Given the description of an element on the screen output the (x, y) to click on. 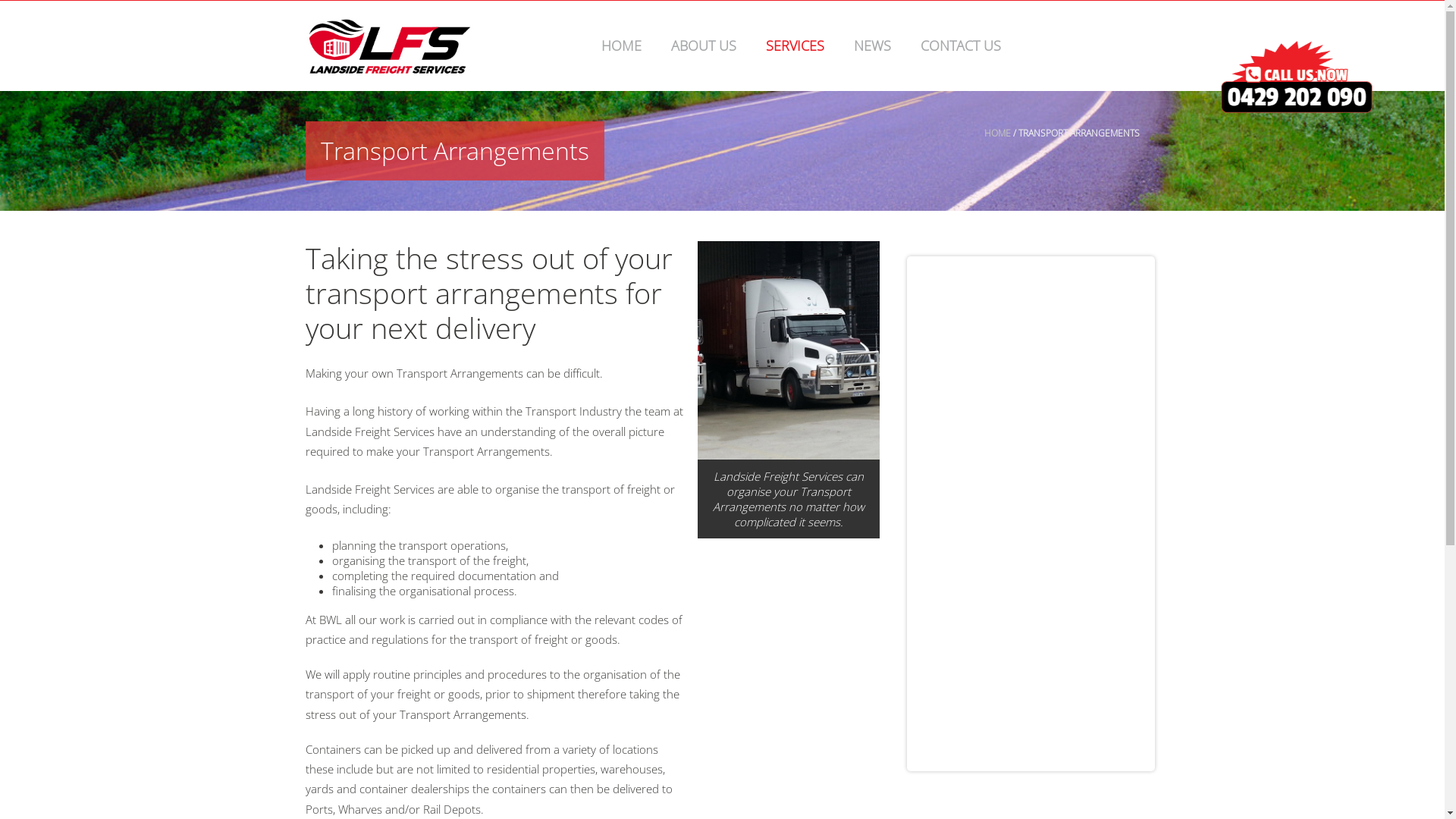
NEWS Element type: text (871, 45)
CONTACT US Element type: text (959, 45)
HOME Element type: text (997, 132)
SERVICES Element type: text (794, 45)
home-slider-1 Element type: hover (788, 350)
ABOUT US Element type: text (703, 45)
HOME Element type: text (621, 45)
Landside Freight Services Element type: hover (389, 45)
